Given the description of an element on the screen output the (x, y) to click on. 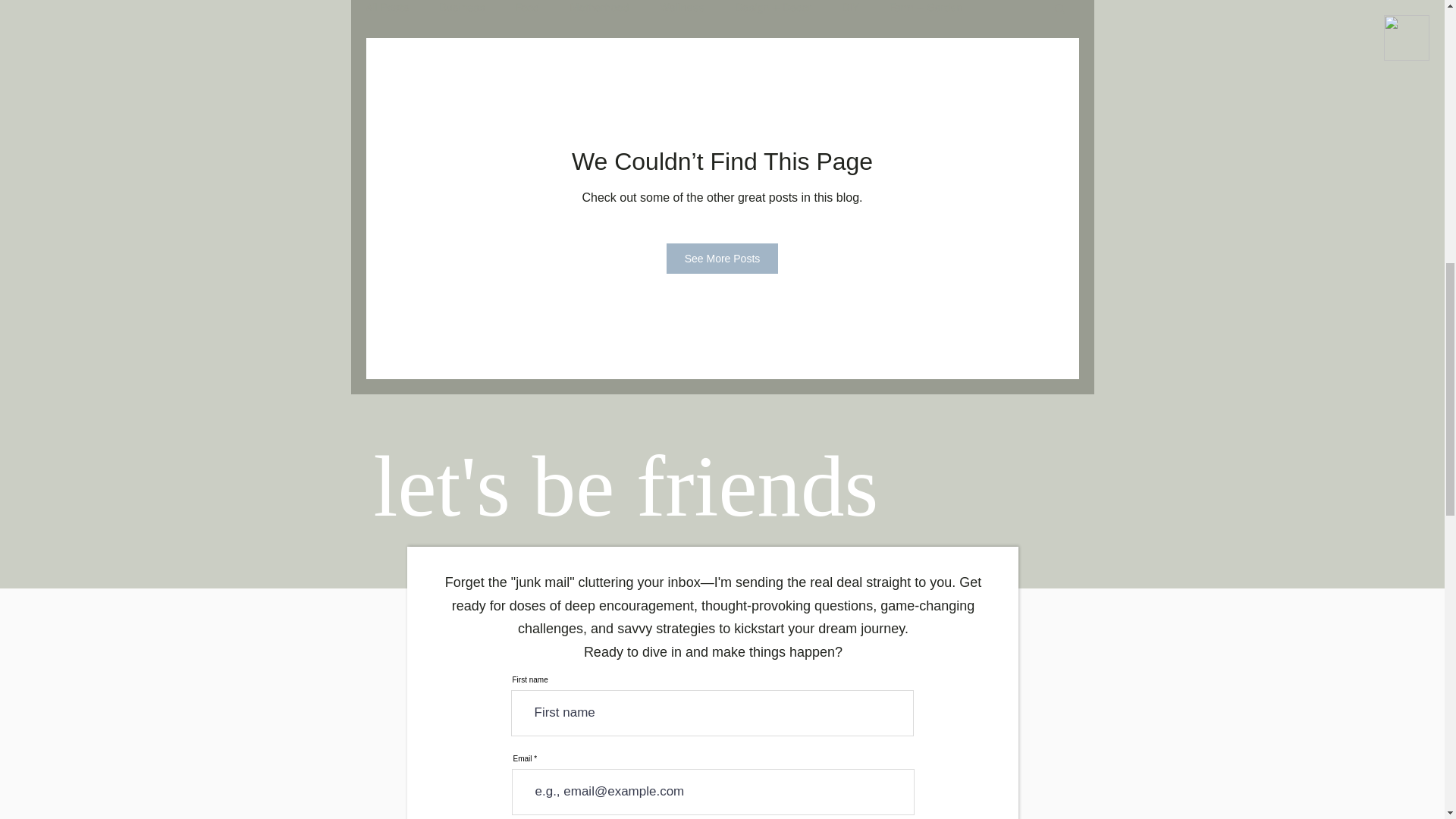
All Posts (387, 7)
Food (526, 7)
Motherhood (598, 7)
Business (461, 7)
Wellness (681, 7)
DIY (850, 7)
